Given the description of an element on the screen output the (x, y) to click on. 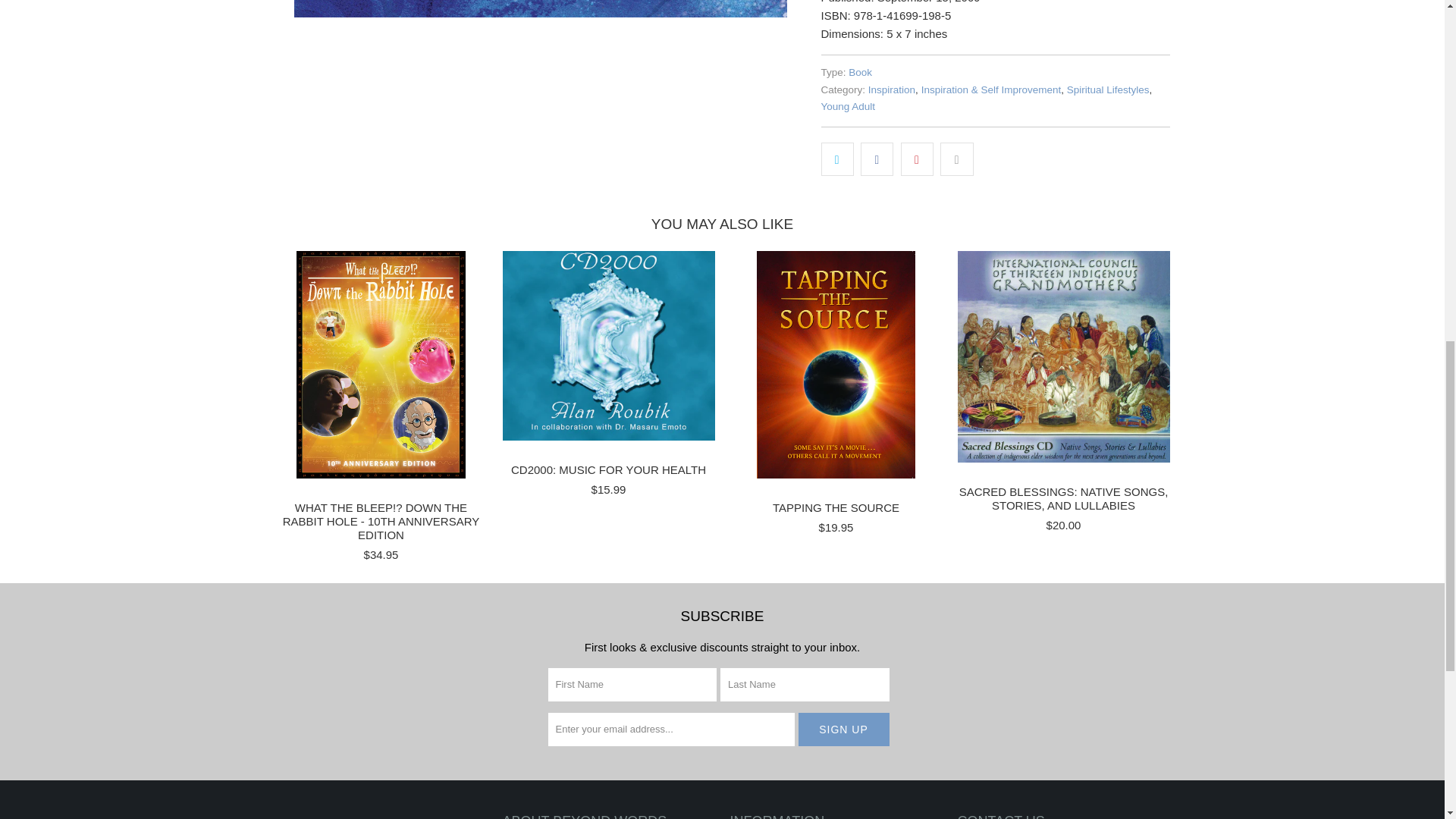
Sign Up (842, 729)
Book (860, 71)
